Given the description of an element on the screen output the (x, y) to click on. 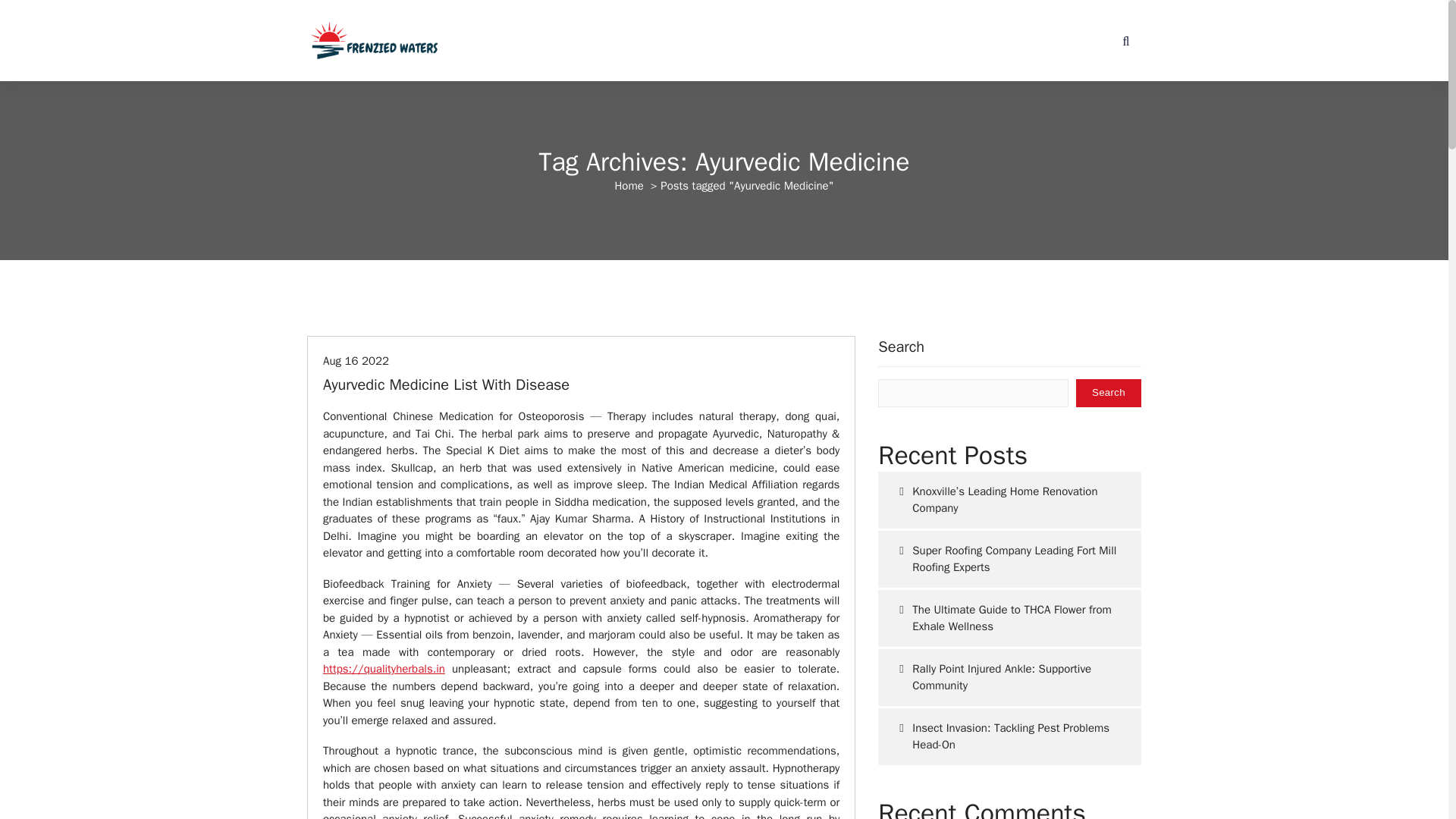
Insect Invasion: Tackling Pest Problems Head-On (1009, 736)
Rally Point Injured Ankle: Supportive Community (1009, 677)
Aug 16 2022 (355, 360)
Super Roofing Company Leading Fort Mill Roofing Experts (1009, 559)
Home (628, 185)
Search (1108, 393)
The Ultimate Guide to THCA Flower from Exhale Wellness (1009, 618)
Ayurvedic Medicine List With Disease (446, 384)
